Given the description of an element on the screen output the (x, y) to click on. 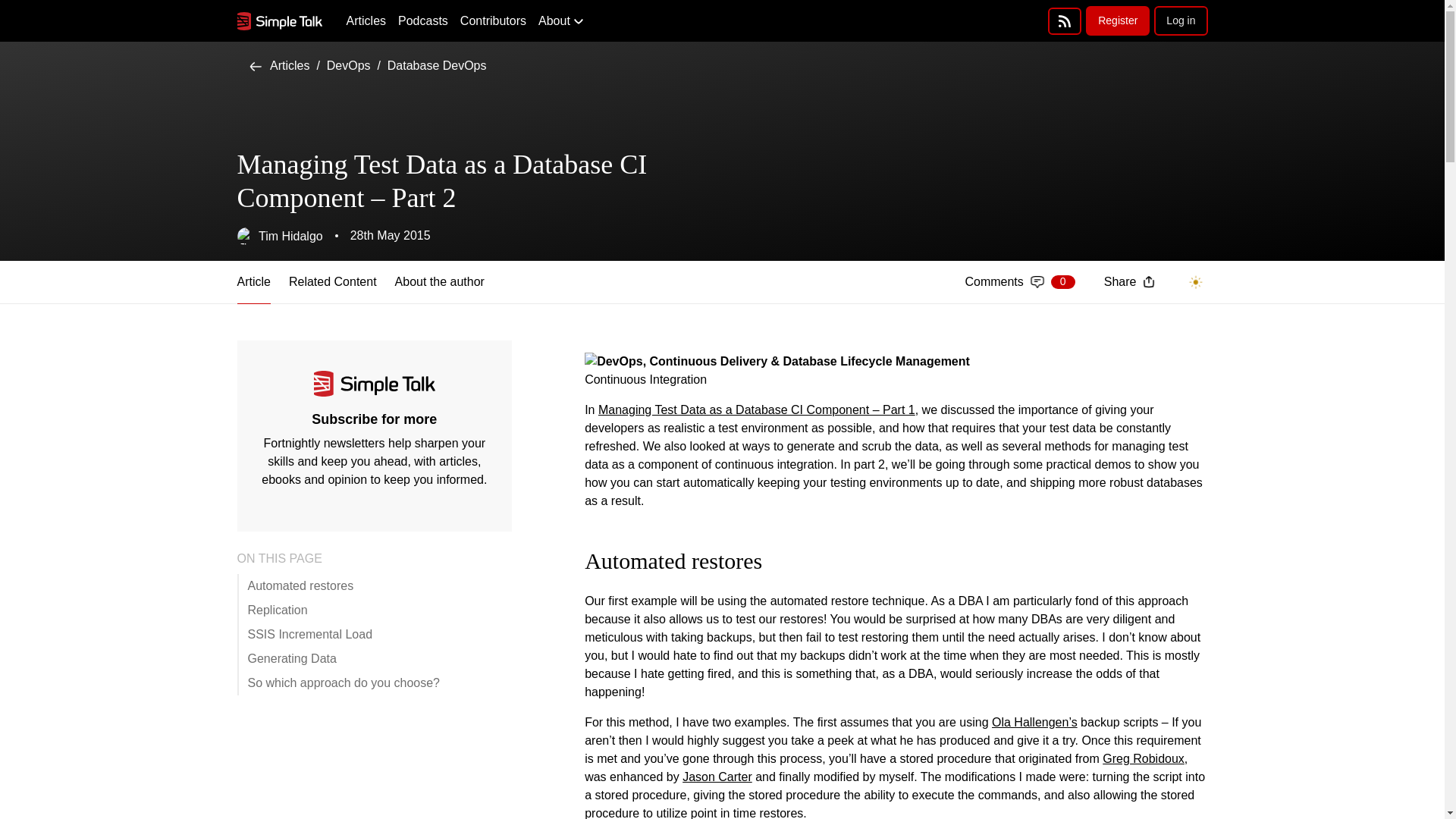
About the author (439, 282)
Share (1128, 281)
DevOps (348, 65)
Tim Hidalgo (278, 235)
Log in (1180, 20)
Podcasts (422, 21)
Contributors (492, 21)
Database DevOps (436, 65)
Related Content (1018, 281)
